Given the description of an element on the screen output the (x, y) to click on. 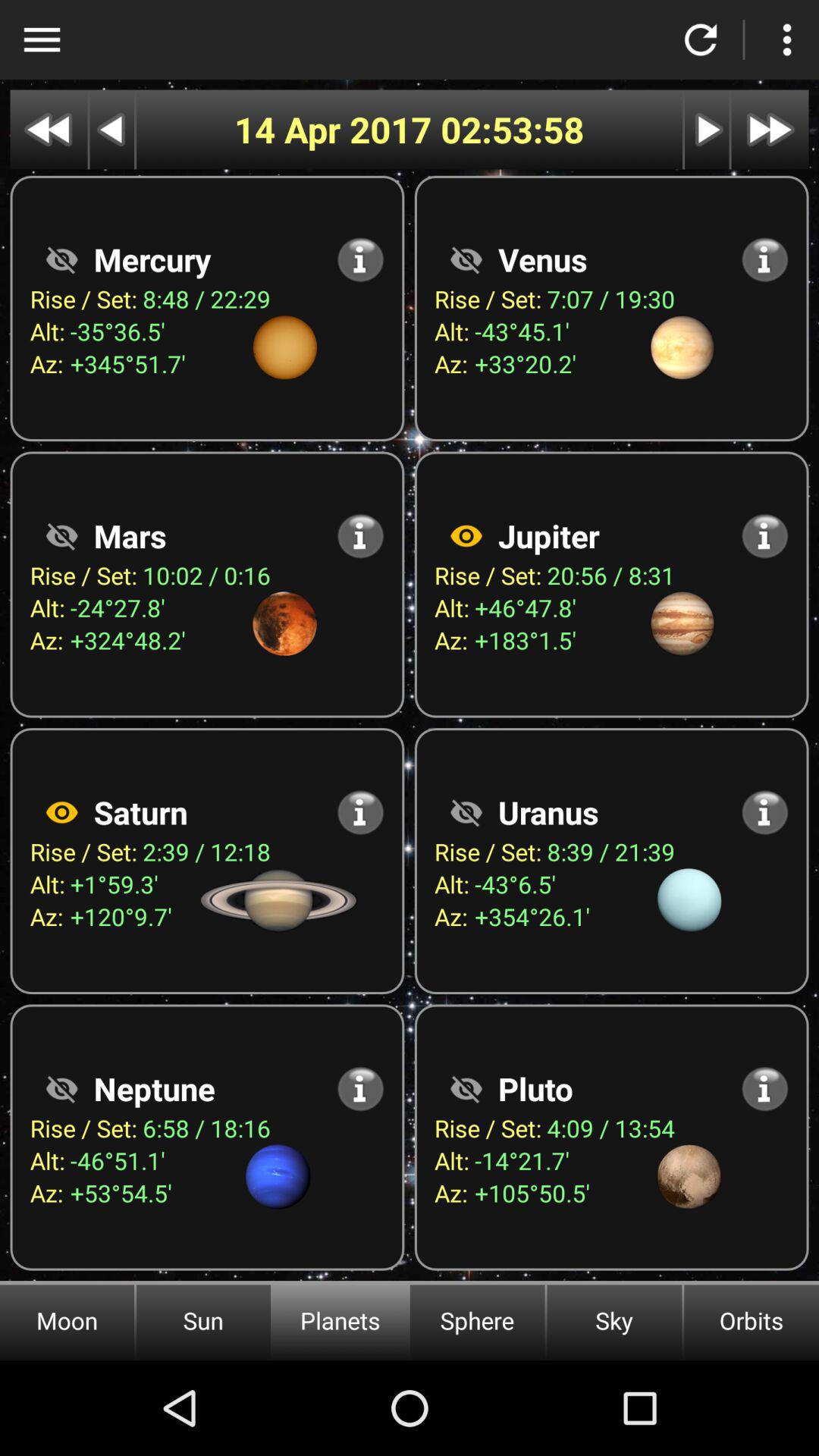
next window (706, 129)
